Given the description of an element on the screen output the (x, y) to click on. 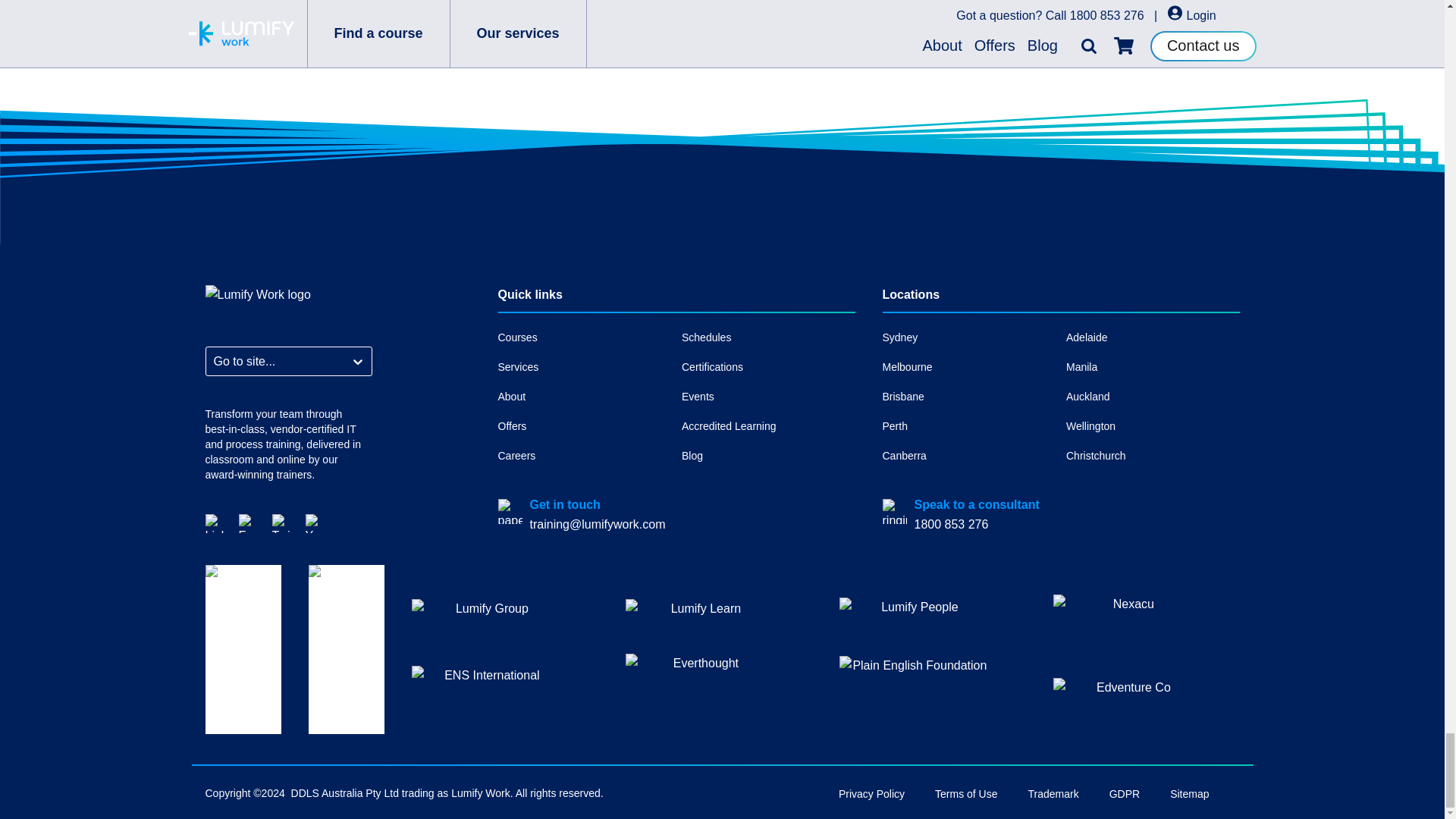
Facebook (247, 522)
Twitter (279, 522)
YouTube (313, 522)
Services (584, 366)
Courses (584, 337)
LinkedIn (213, 522)
